Given the description of an element on the screen output the (x, y) to click on. 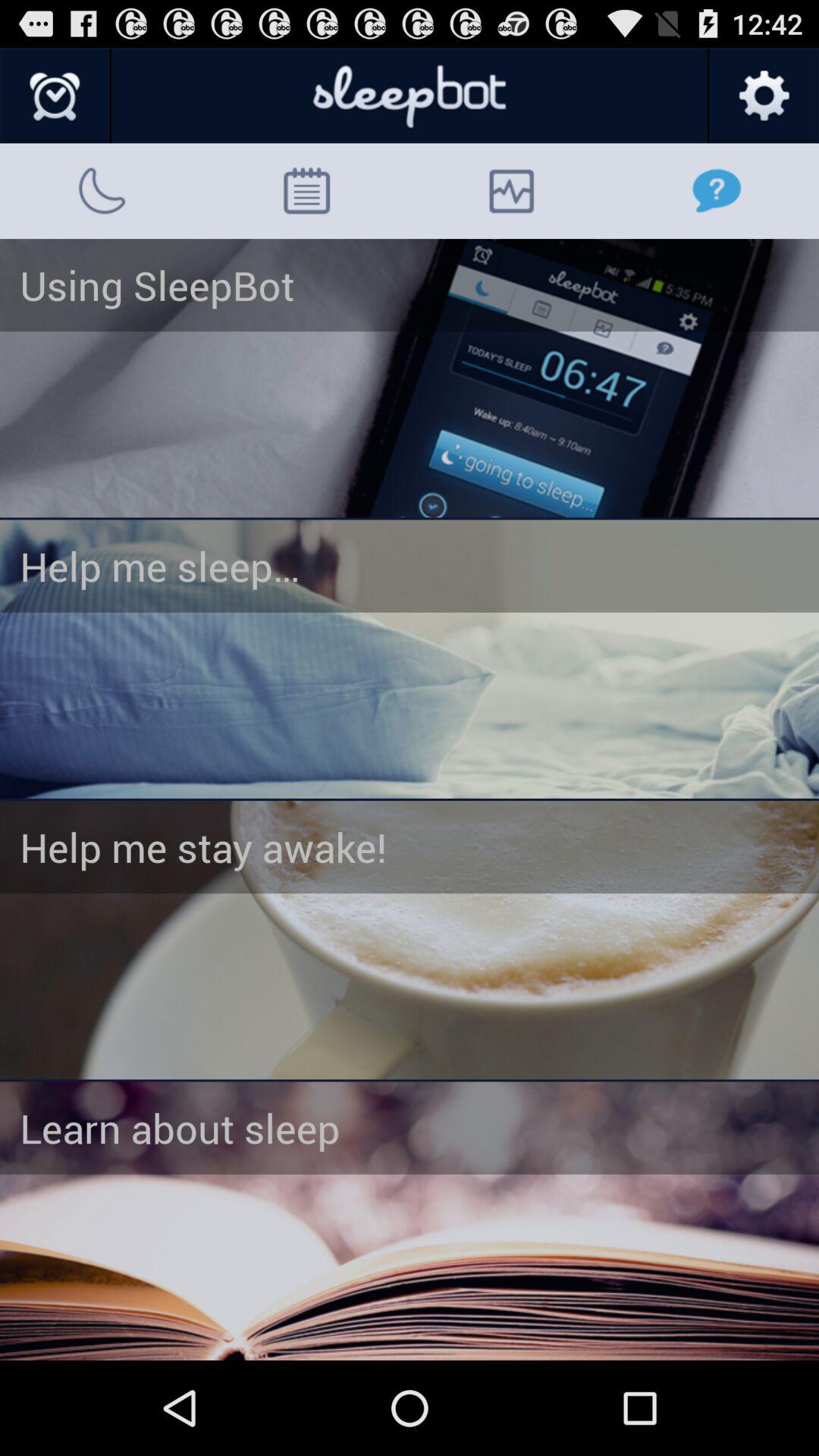
stay awake (409, 939)
